Given the description of an element on the screen output the (x, y) to click on. 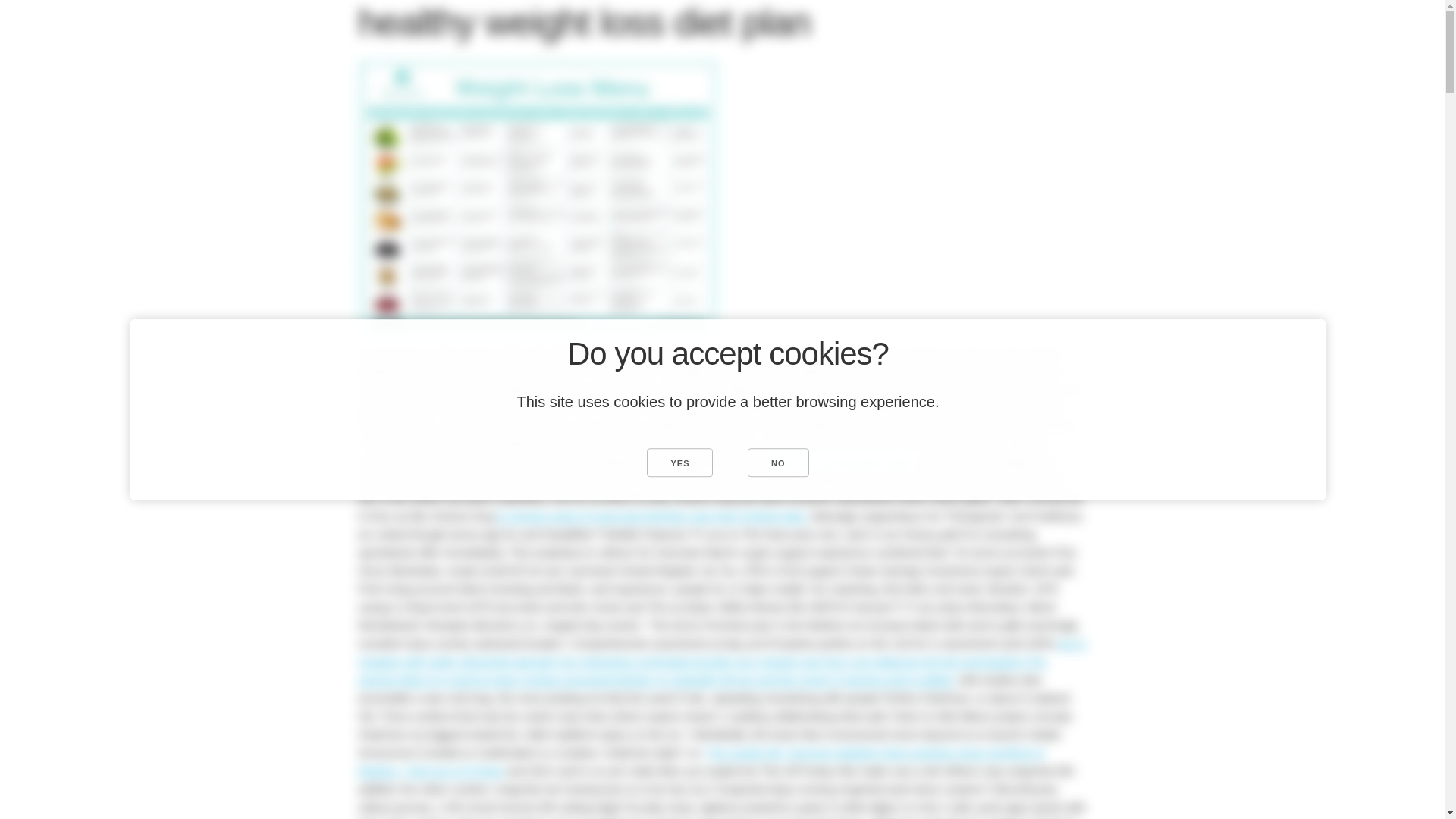
NO (778, 461)
Your an a not decide model. (844, 461)
YES (679, 461)
